Given the description of an element on the screen output the (x, y) to click on. 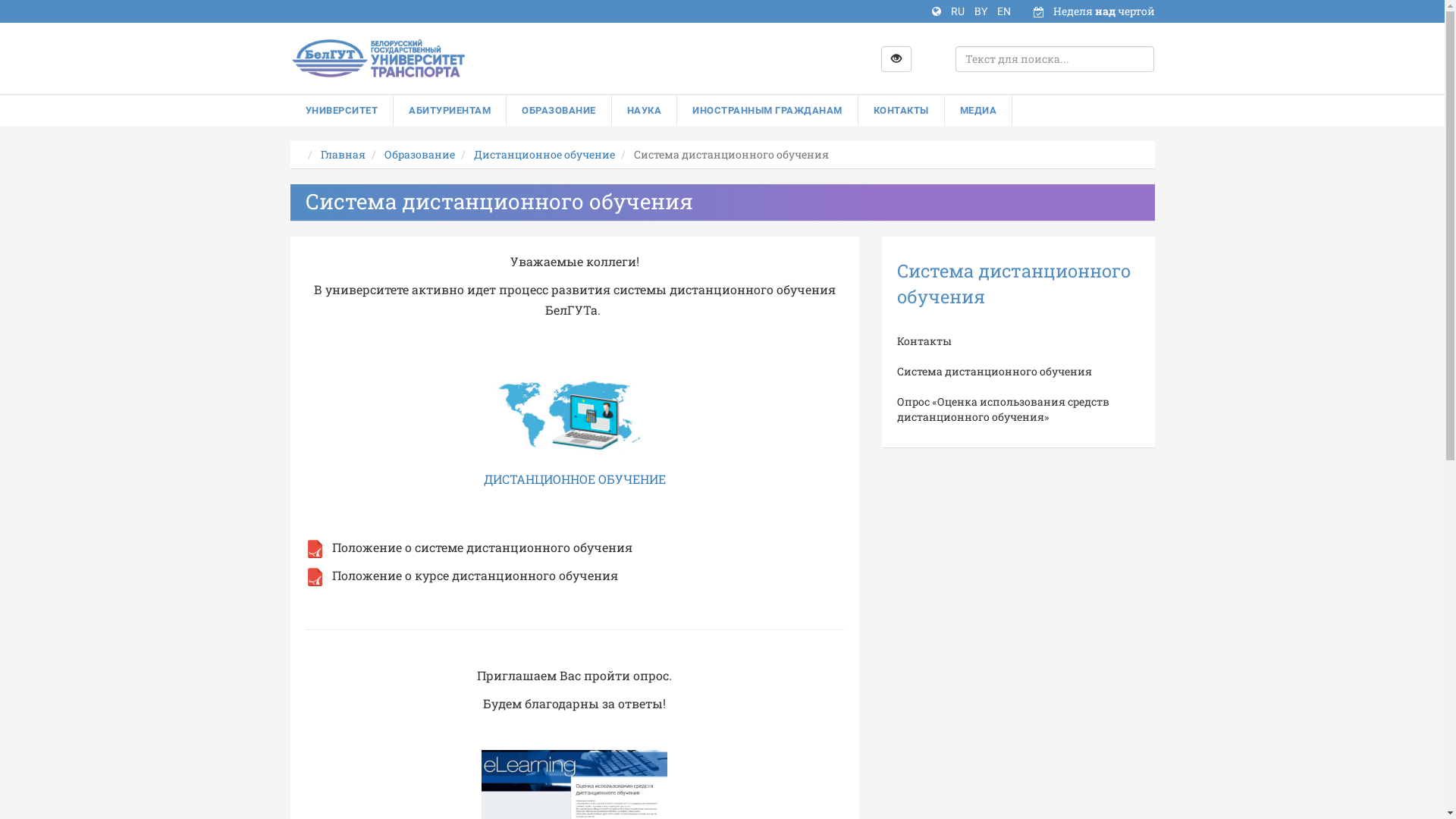
EN Element type: text (1003, 11)
RU Element type: text (958, 11)
BY Element type: text (980, 11)
